Given the description of an element on the screen output the (x, y) to click on. 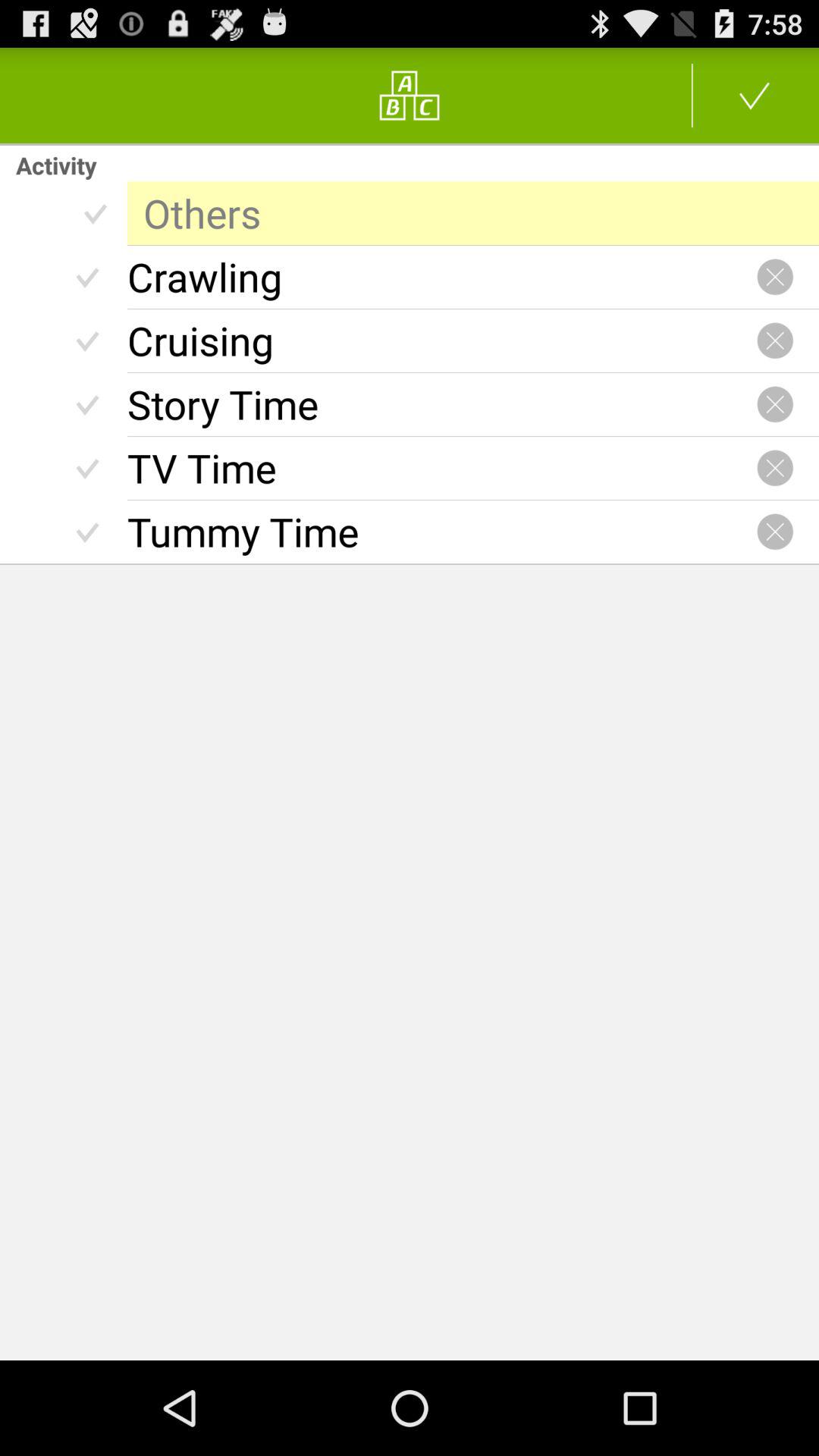
close this activity (775, 404)
